Given the description of an element on the screen output the (x, y) to click on. 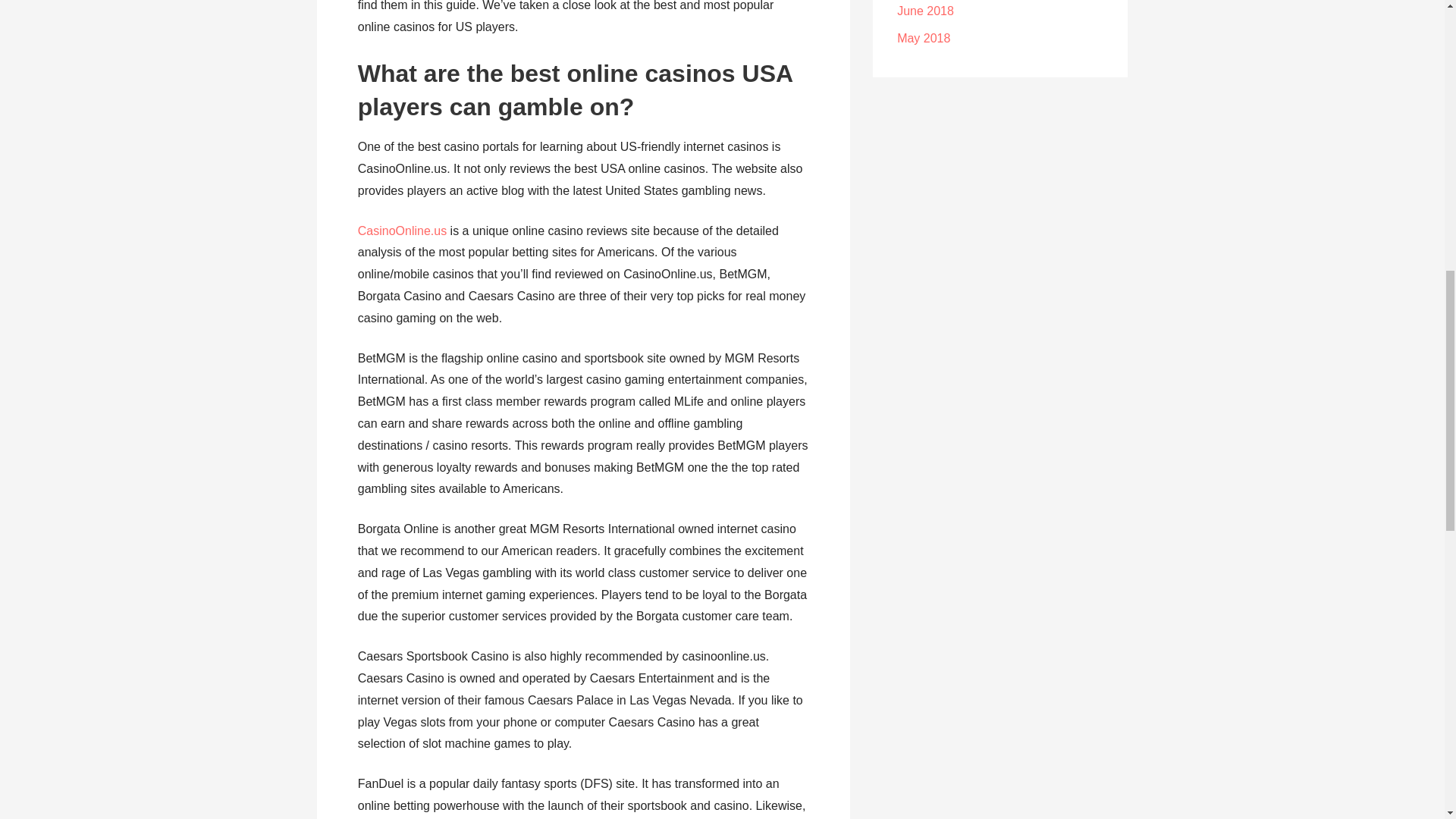
CasinoOnline.us (402, 230)
May 2018 (923, 38)
June 2018 (924, 10)
